Given the description of an element on the screen output the (x, y) to click on. 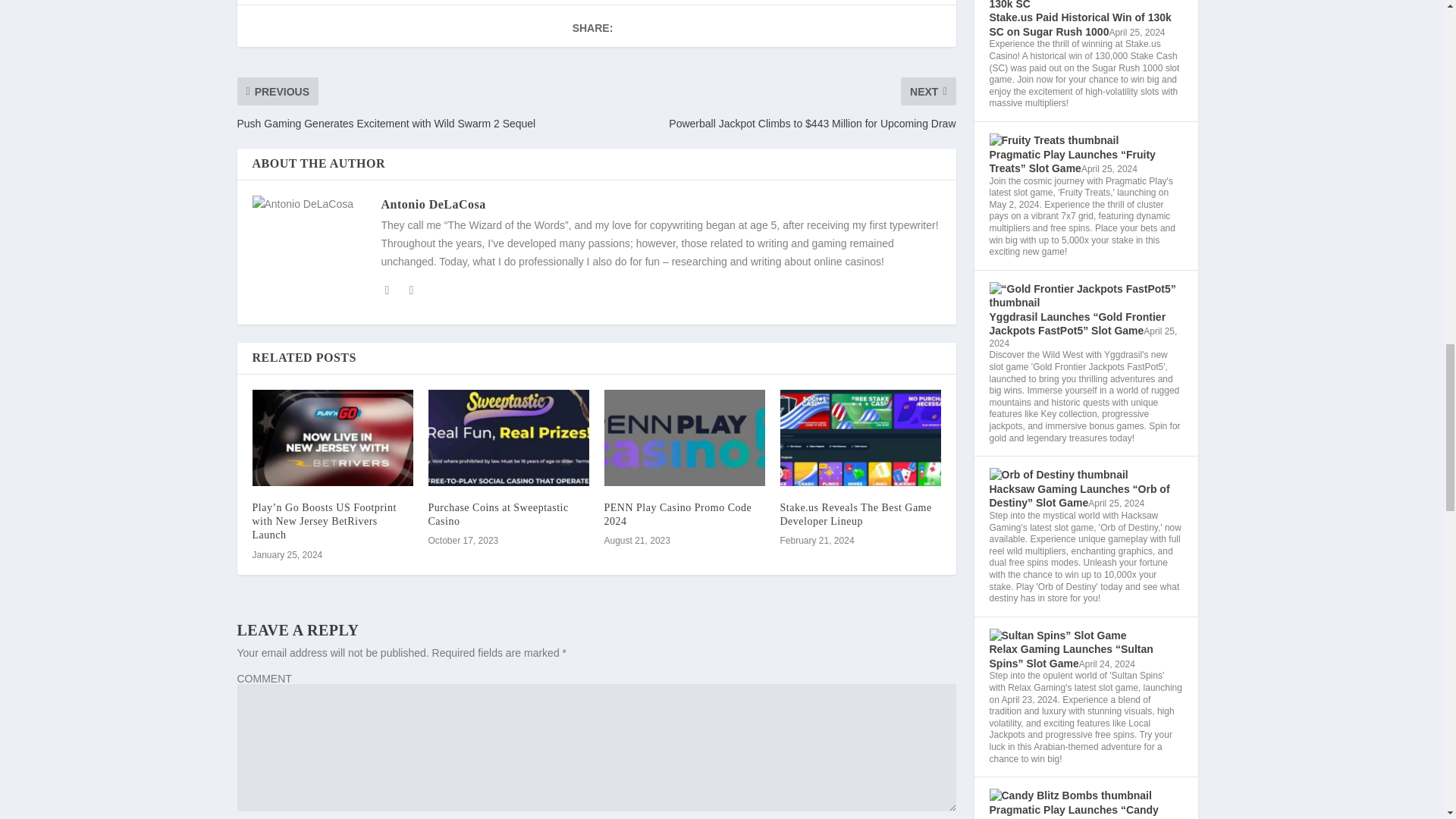
Stake.us Reveals The Best Game Developer Lineup (859, 437)
Purchase Coins at Sweeptastic Casino (508, 437)
Antonio DeLaCosa (432, 204)
View all posts by Antonio DeLaCosa (432, 204)
Stake.us Reveals The Best Game Developer Lineup (854, 514)
PENN Play Casino Promo Code 2024 (684, 437)
PENN Play Casino Promo Code 2024 (677, 514)
Purchase Coins at Sweeptastic Casino (497, 514)
